Given the description of an element on the screen output the (x, y) to click on. 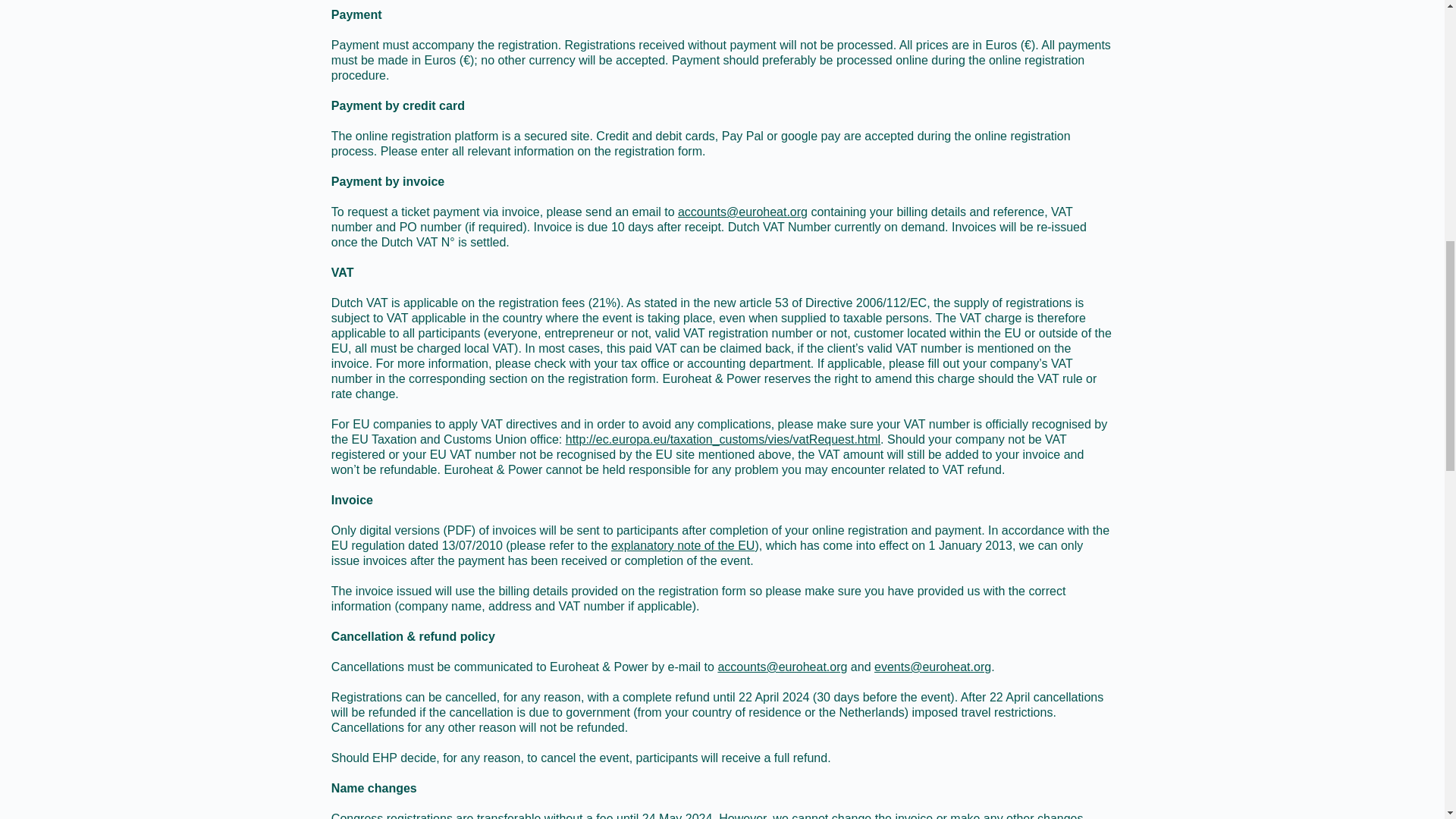
explanatory note of the EU (682, 545)
